Given the description of an element on the screen output the (x, y) to click on. 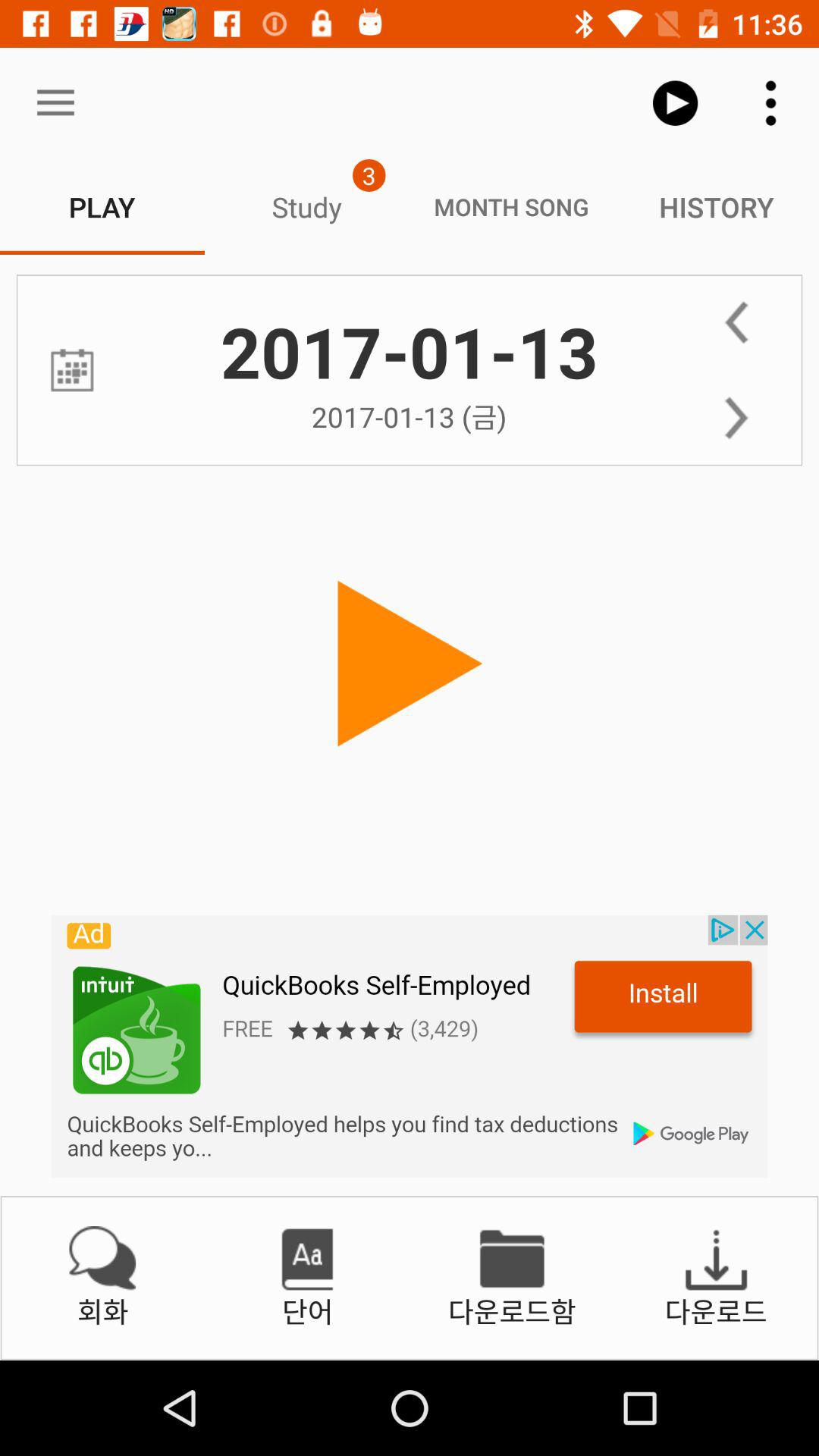
click calendar (71, 370)
